Given the description of an element on the screen output the (x, y) to click on. 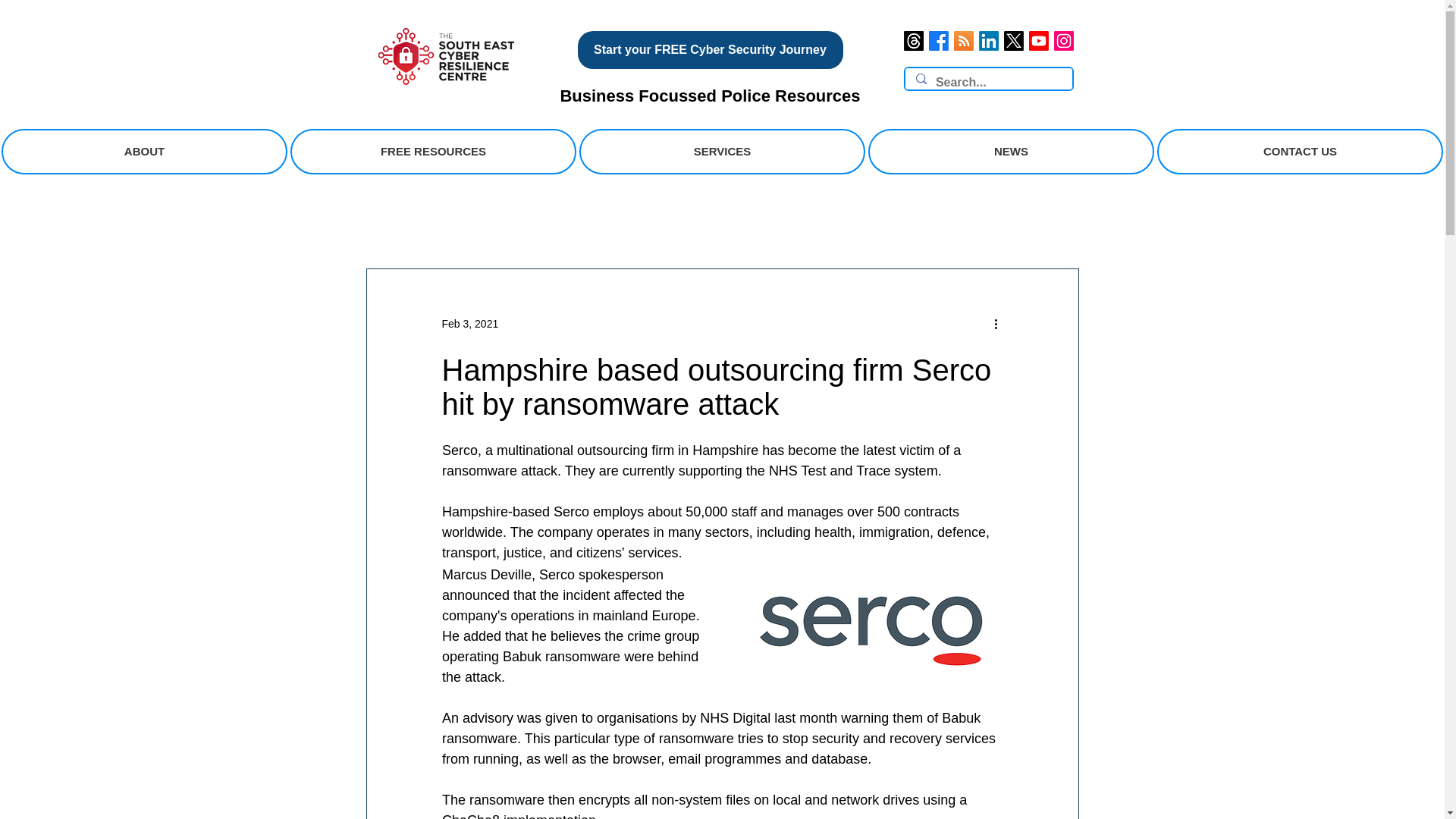
Feb 3, 2021 (469, 322)
Start your FREE Cyber Security Journey (710, 49)
